Given the description of an element on the screen output the (x, y) to click on. 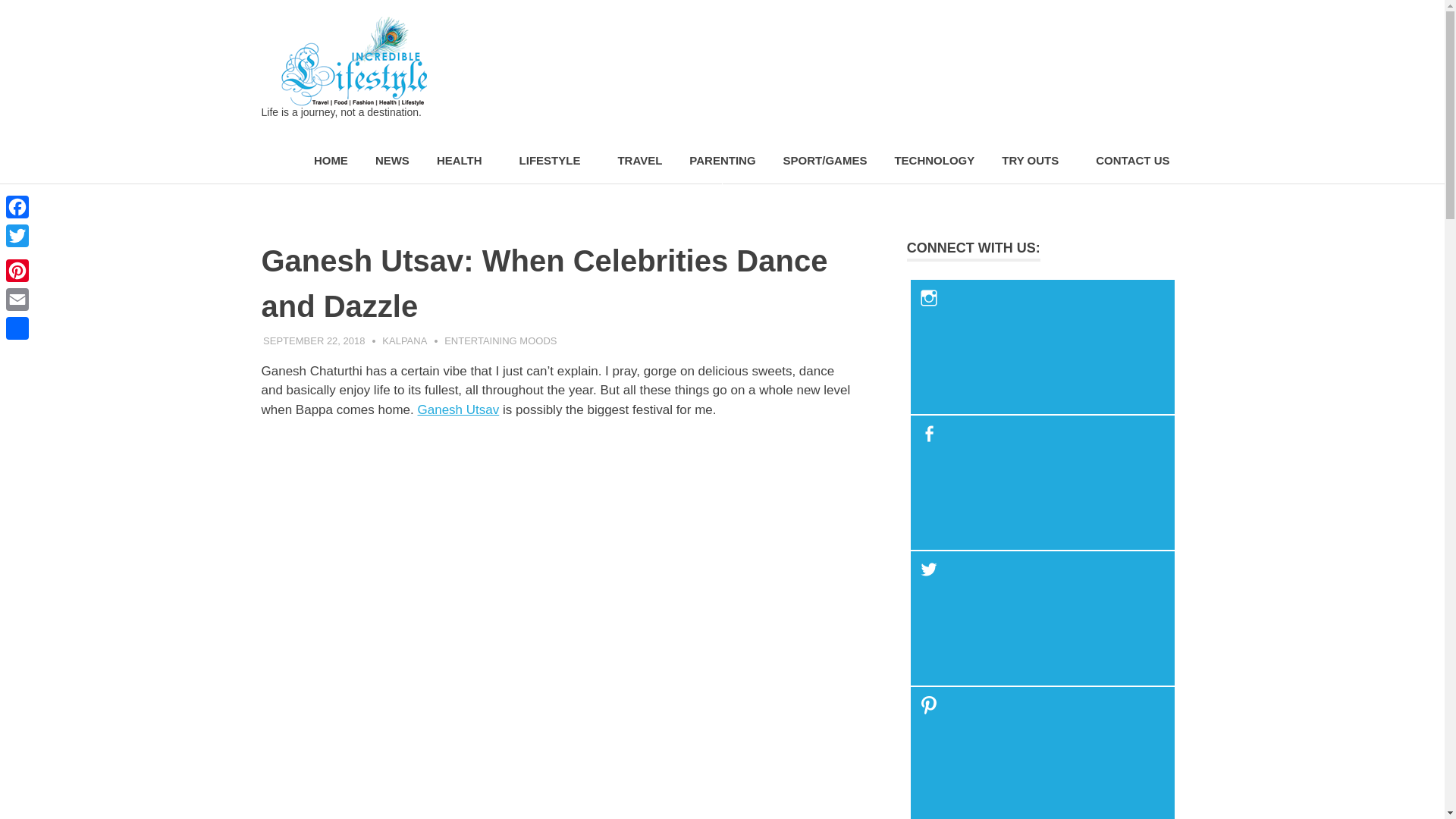
CONTACT US (1131, 160)
TRY OUTS (1034, 160)
Email (17, 299)
Ganesh Utsav (458, 409)
Facebook (17, 206)
NEWS (392, 160)
HOME (330, 160)
KALPANA (403, 340)
Twitter (17, 235)
ENTERTAINING MOODS (500, 340)
Pinterest (17, 270)
View all posts by Kalpana (403, 340)
LIFESTYLE (554, 160)
TECHNOLOGY (934, 160)
SEPTEMBER 22, 2018 (314, 340)
